Given the description of an element on the screen output the (x, y) to click on. 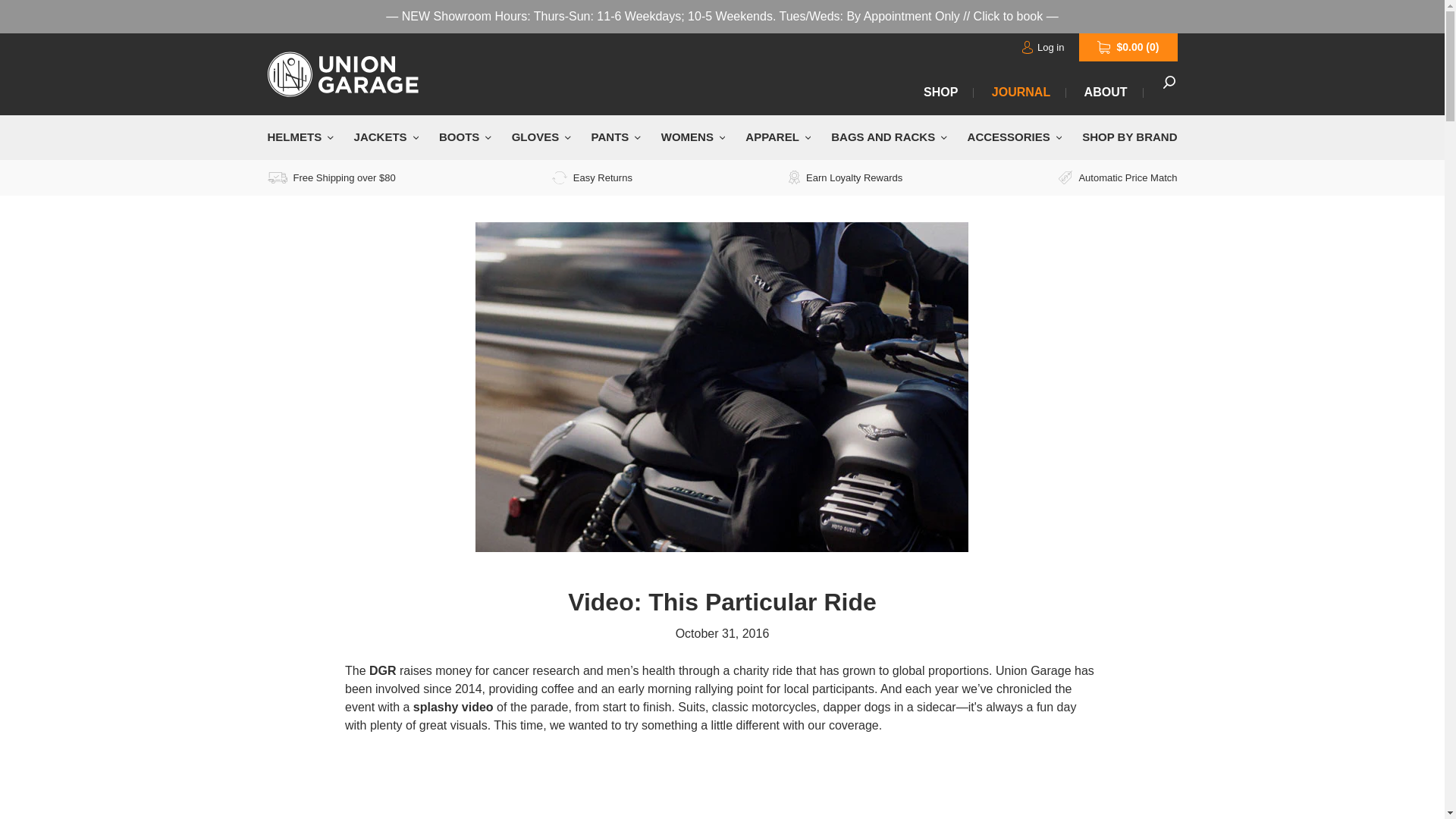
SHOP (940, 92)
JOURNAL (1020, 92)
Log in (1043, 47)
ABOUT (1105, 92)
